Given the description of an element on the screen output the (x, y) to click on. 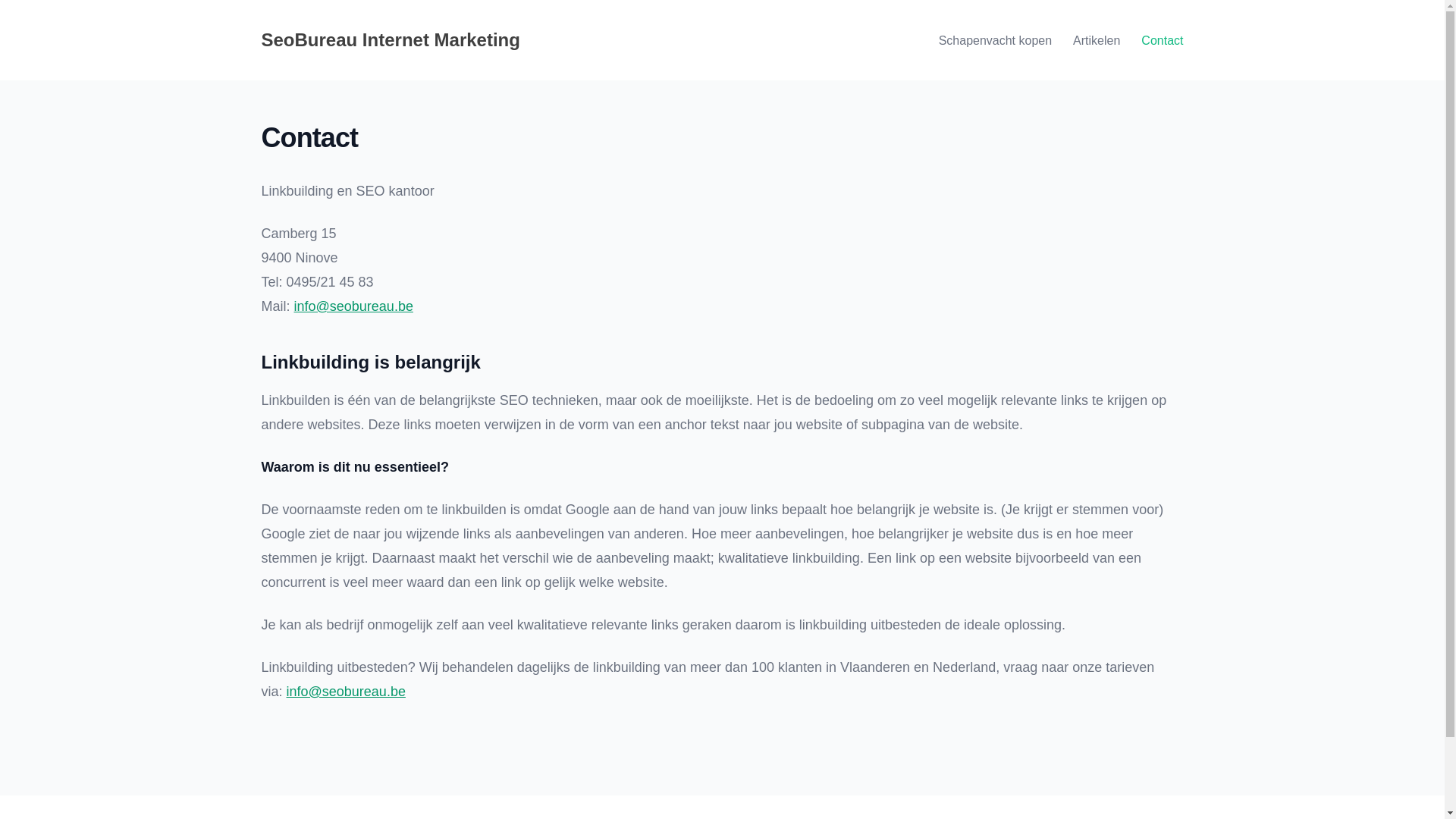
Schapenvacht kopen Element type: text (995, 40)
info@seobureau.be Element type: text (345, 691)
SeoBureau Internet Marketing Element type: text (389, 39)
Contact Element type: text (1161, 40)
info@seobureau.be Element type: text (353, 305)
Artikelen Element type: text (1096, 40)
